Given the description of an element on the screen output the (x, y) to click on. 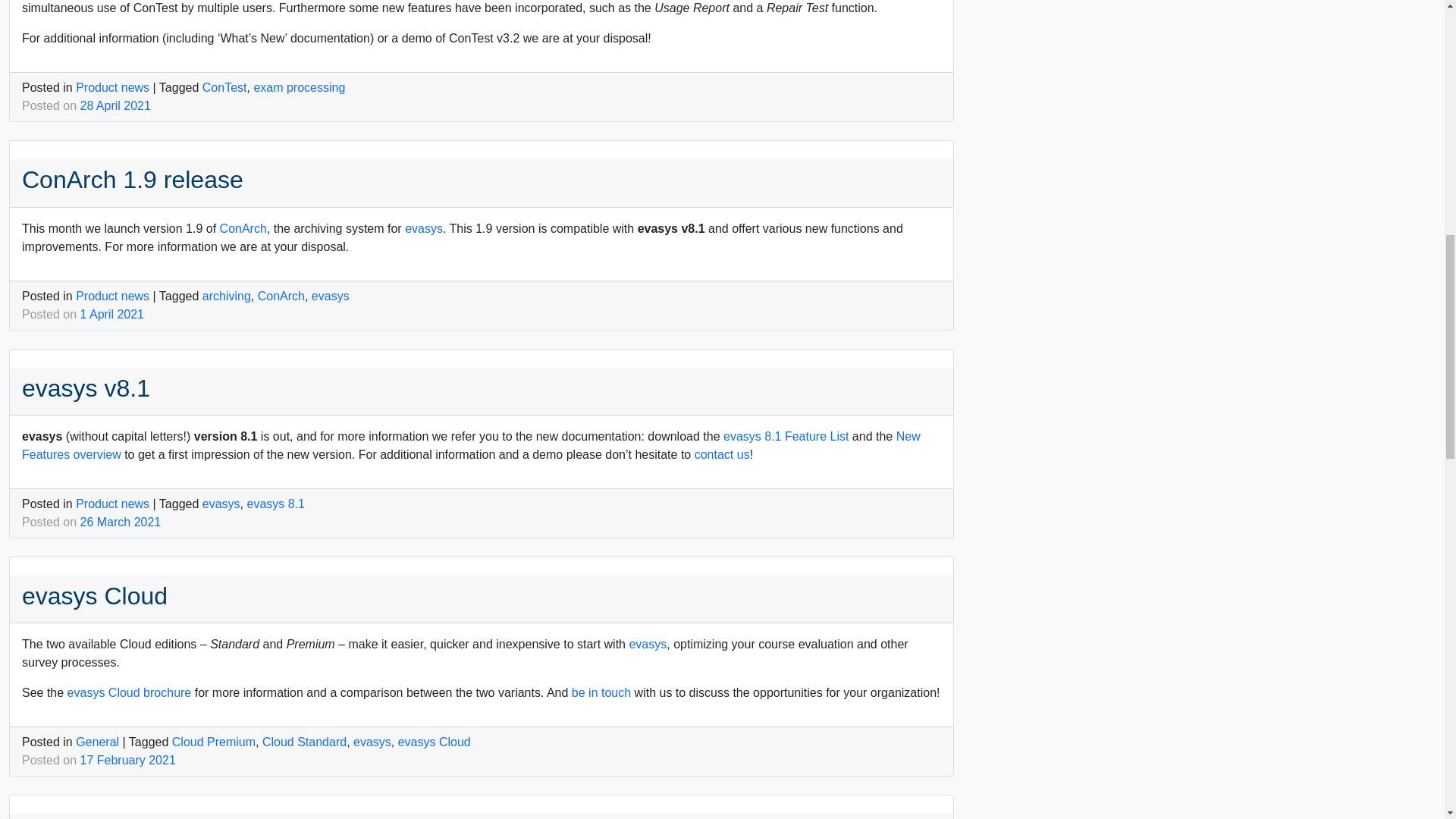
exam processing (299, 87)
ConTest (224, 87)
Product news (112, 87)
